Given the description of an element on the screen output the (x, y) to click on. 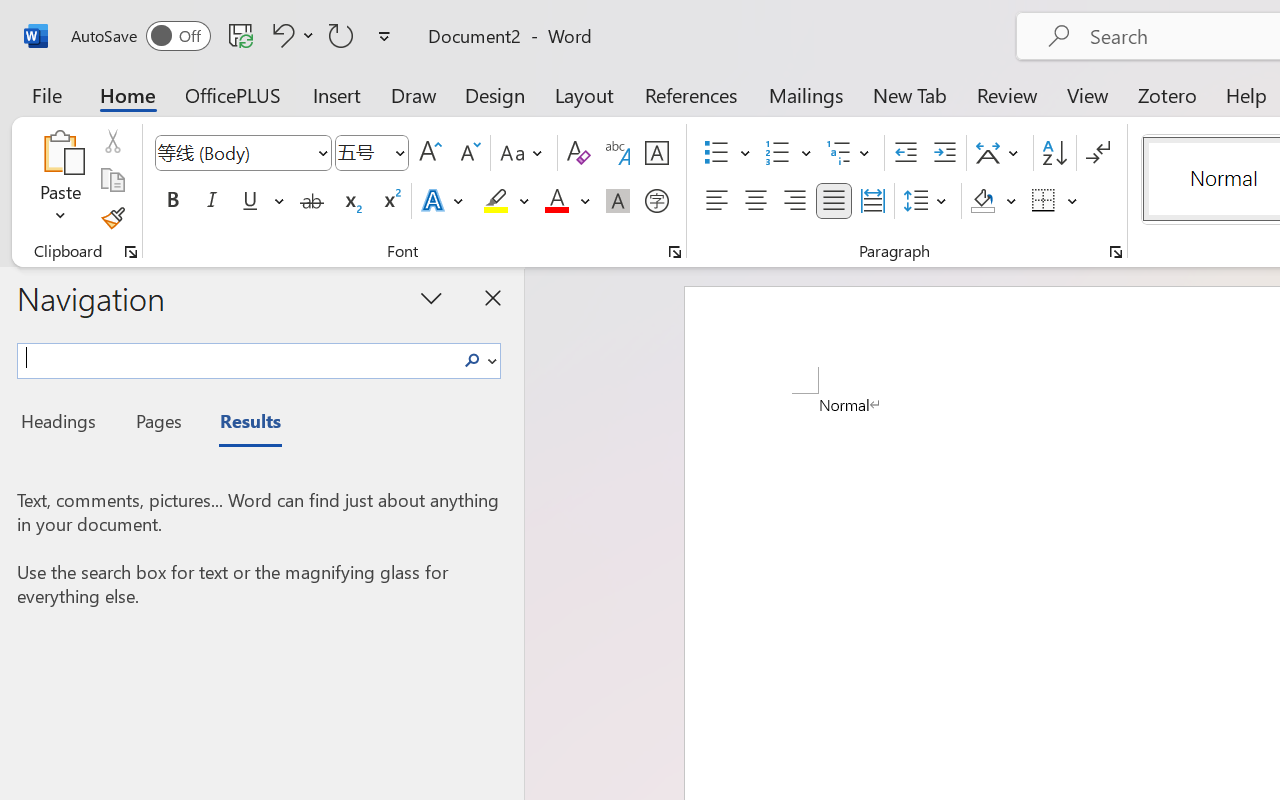
Zotero (1166, 94)
Text Highlight Color (506, 201)
Repeat Doc Close (341, 35)
Asian Layout (1000, 153)
Multilevel List (850, 153)
Justify (834, 201)
Line and Paragraph Spacing (927, 201)
Superscript (390, 201)
More Options (1073, 201)
Copy (112, 179)
